Given the description of an element on the screen output the (x, y) to click on. 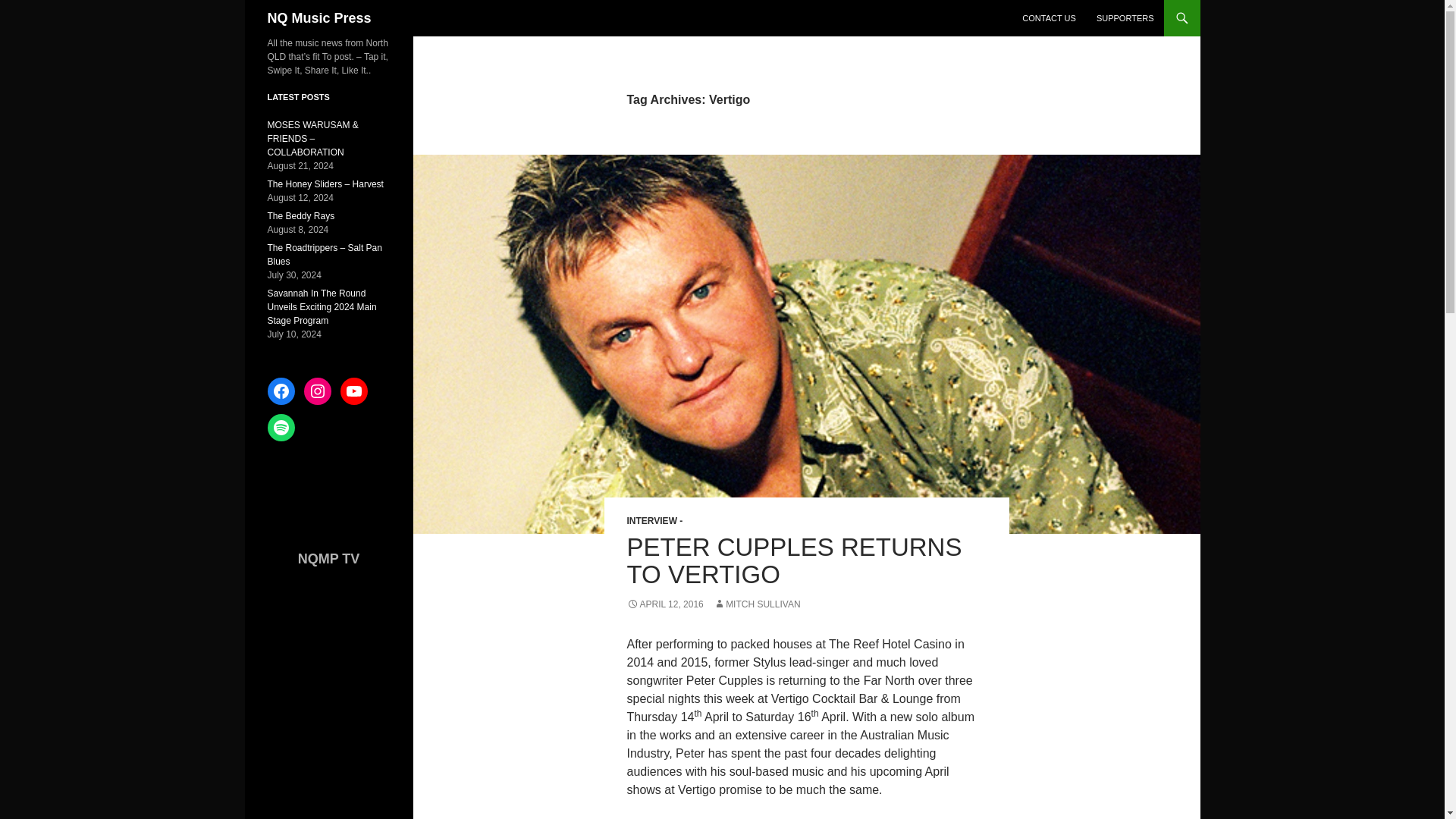
CONTACT US (1048, 18)
Instagram (316, 390)
NQ Music Press (318, 18)
PETER CUPPLES RETURNS TO VERTIGO (793, 560)
MITCH SULLIVAN (756, 603)
YouTube (352, 390)
The Beddy Rays (300, 215)
SUPPORTERS (1125, 18)
APRIL 12, 2016 (664, 603)
